Given the description of an element on the screen output the (x, y) to click on. 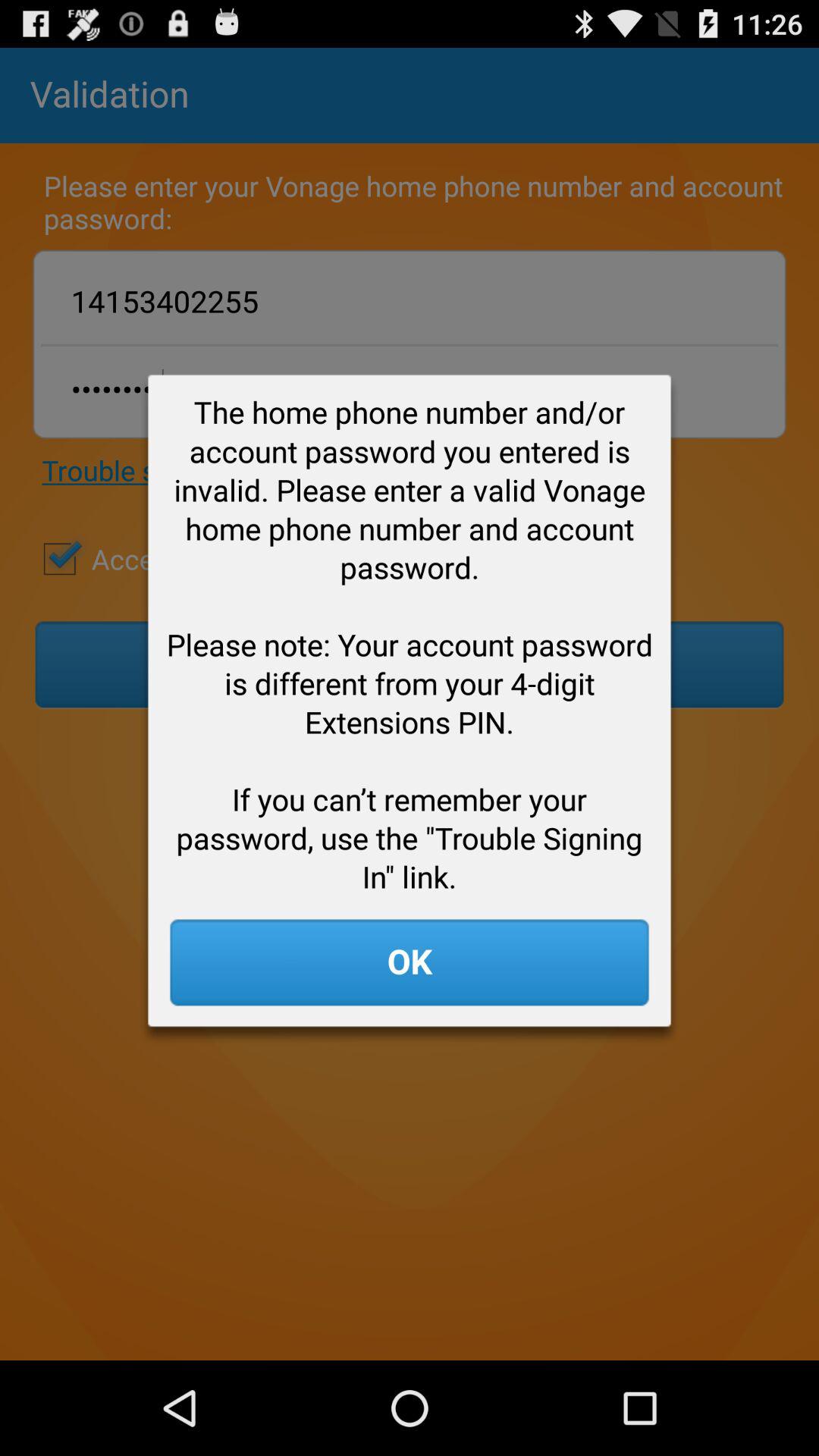
tap the app below the home phone app (409, 962)
